Given the description of an element on the screen output the (x, y) to click on. 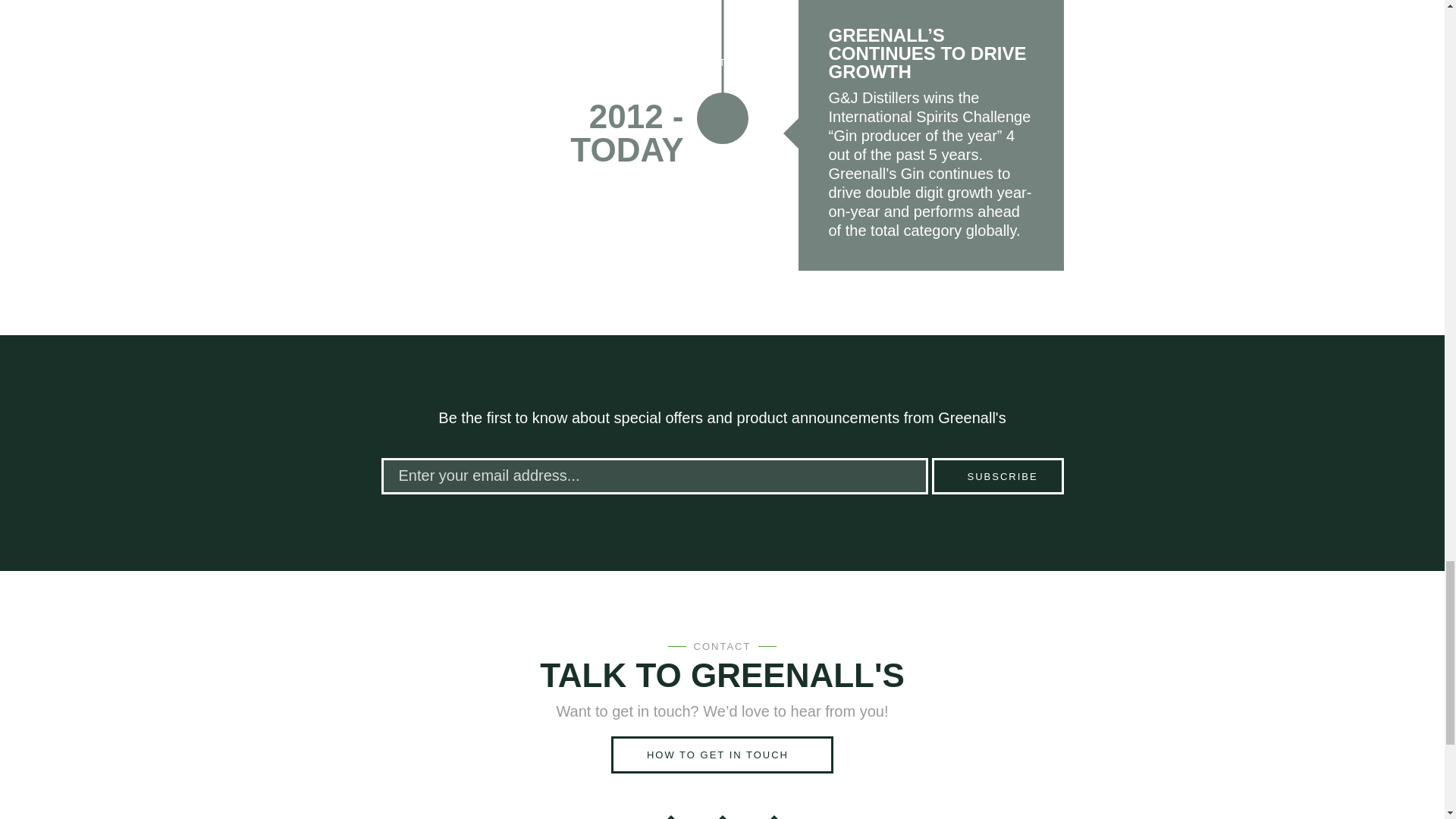
Subscribe (996, 475)
Find us on Twitter (766, 816)
Find us on Facebook (715, 816)
Find us on Instagram (663, 816)
Find us on Instagram (663, 816)
Find us on Facebook (715, 816)
Find us on Twitter (766, 816)
Subscribe (996, 475)
HOW TO GET IN TOUCH (721, 754)
